Given the description of an element on the screen output the (x, y) to click on. 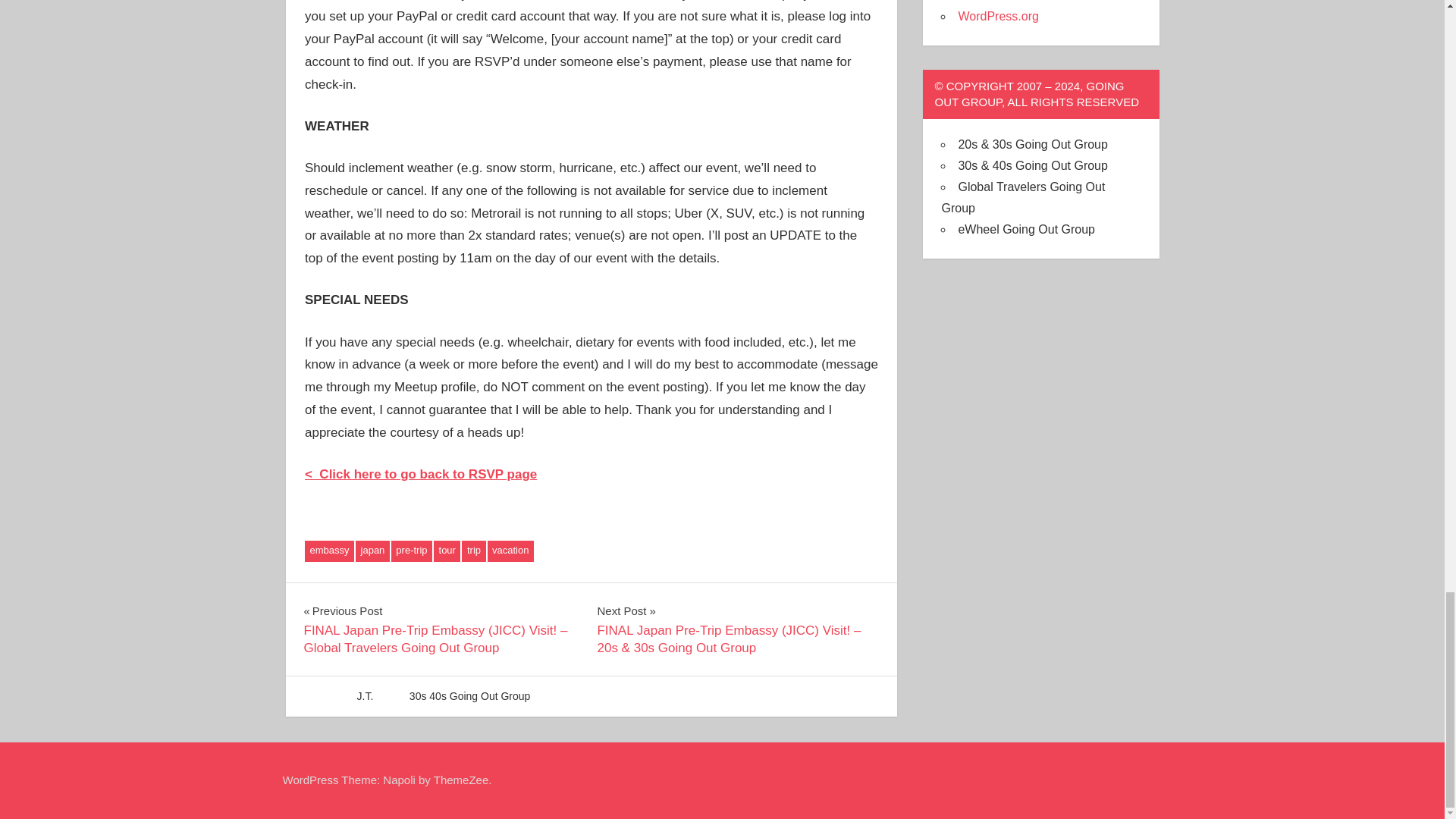
vacation (509, 550)
tour (446, 550)
japan (372, 550)
pre-trip (411, 550)
trip (472, 550)
View all posts by J.T. (365, 695)
embassy (328, 550)
30s 40s Going Out Group (470, 695)
J.T. (365, 695)
